Given the description of an element on the screen output the (x, y) to click on. 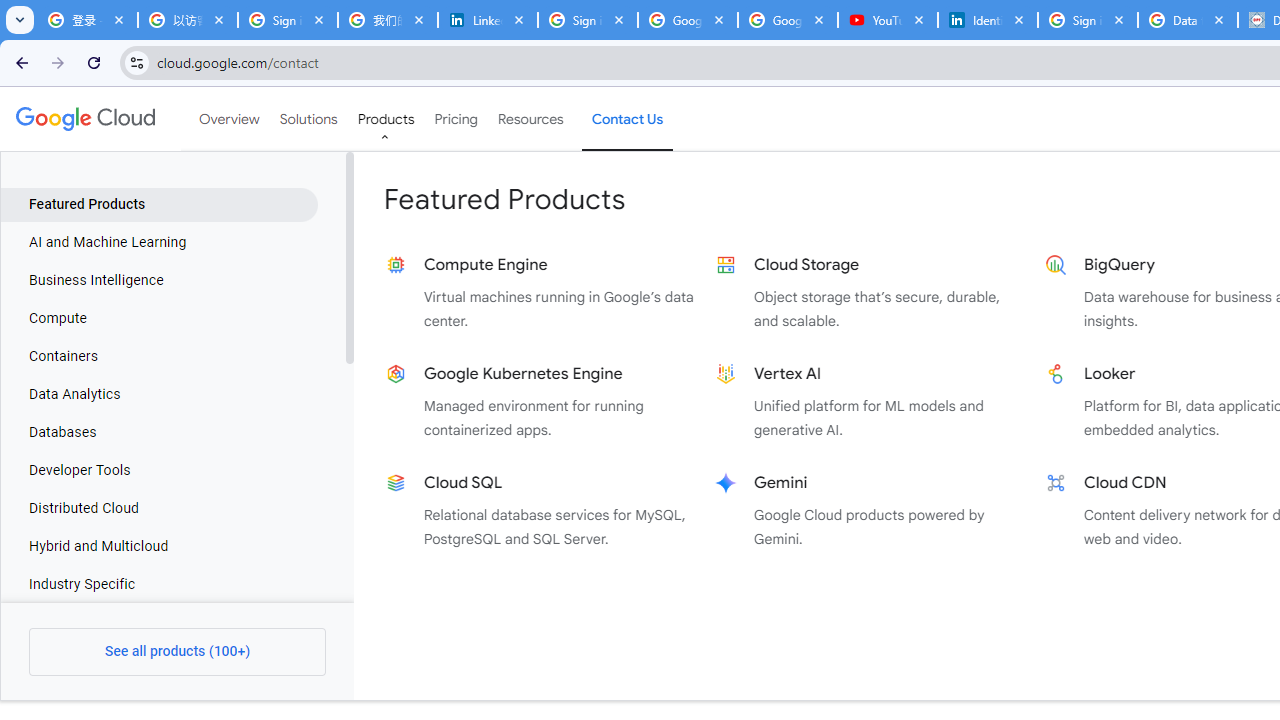
Data Analytics (159, 394)
Featured Products (159, 204)
Sign in - Google Accounts (1087, 20)
Solutions (308, 119)
Containers (159, 356)
Distributed Cloud (159, 508)
Business Intelligence (159, 281)
